Given the description of an element on the screen output the (x, y) to click on. 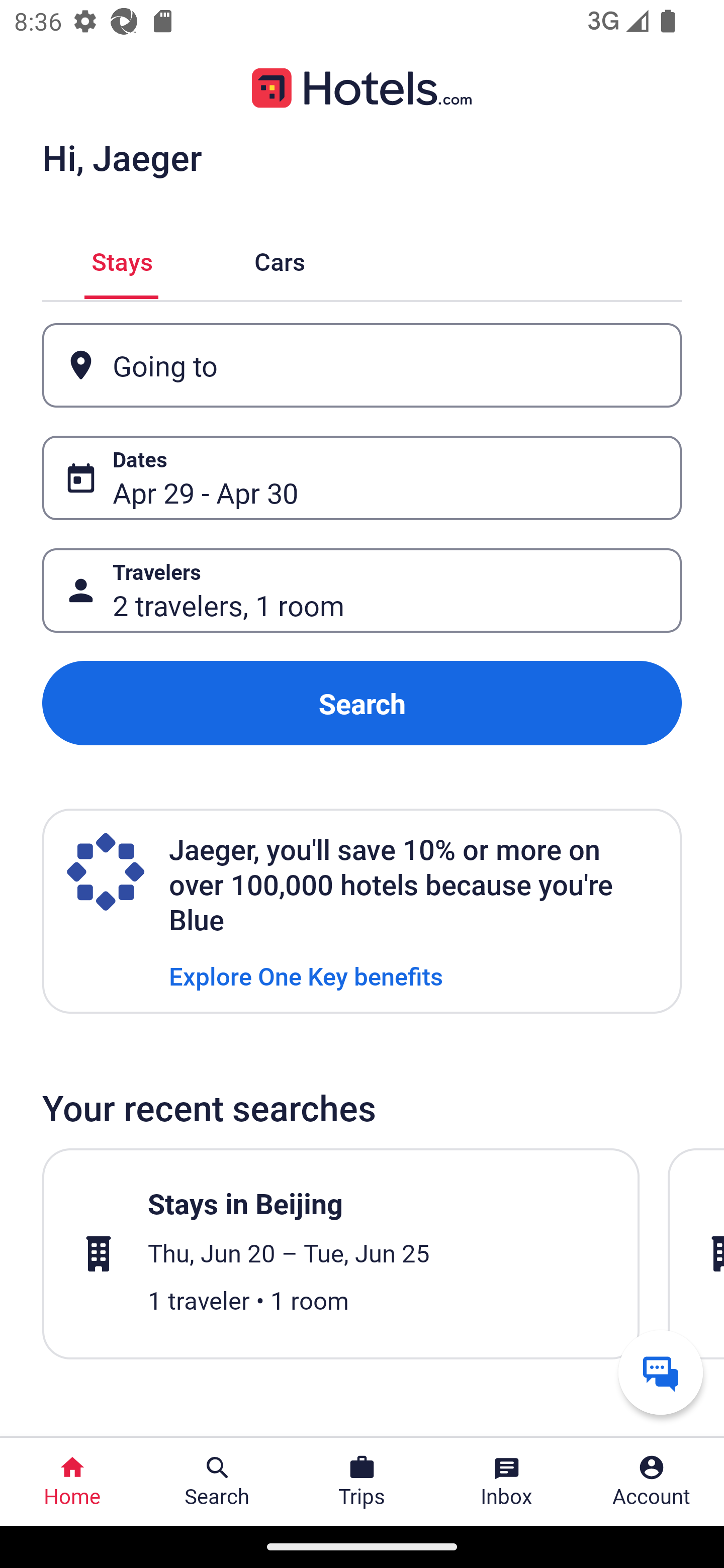
Hi, Jaeger (121, 156)
Cars (279, 259)
Going to Button (361, 365)
Dates Button Apr 29 - Apr 30 (361, 477)
Travelers Button 2 travelers, 1 room (361, 590)
Search (361, 702)
Get help from a virtual agent (660, 1371)
Search Search Button (216, 1481)
Trips Trips Button (361, 1481)
Inbox Inbox Button (506, 1481)
Account Profile. Button (651, 1481)
